Given the description of an element on the screen output the (x, y) to click on. 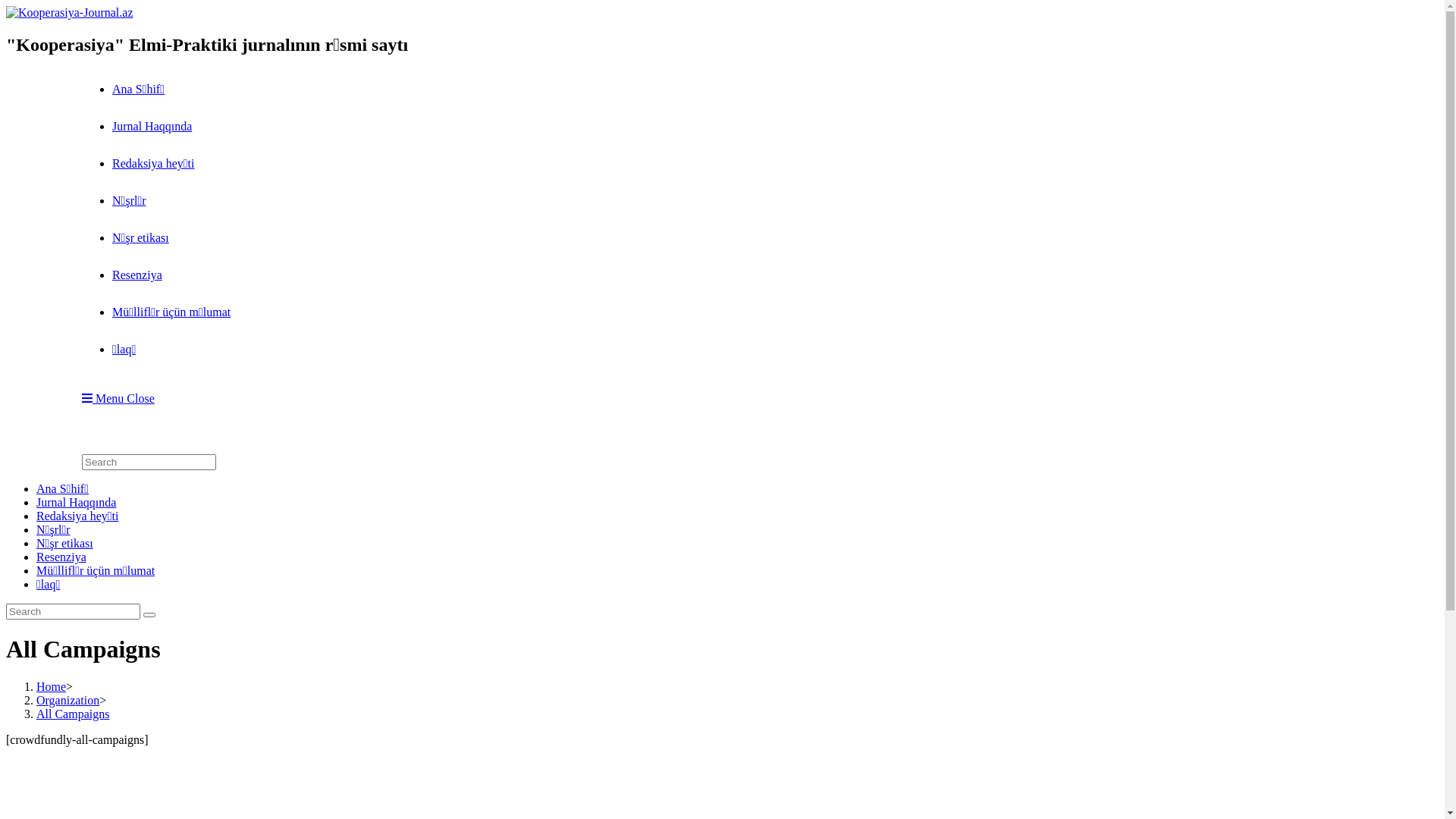
Home Element type: text (50, 686)
Skip to content Element type: text (5, 5)
Menu Close Element type: text (117, 398)
Resenziya Element type: text (61, 556)
Resenziya Element type: text (137, 274)
All Campaigns Element type: text (72, 713)
Organization Element type: text (67, 699)
